Given the description of an element on the screen output the (x, y) to click on. 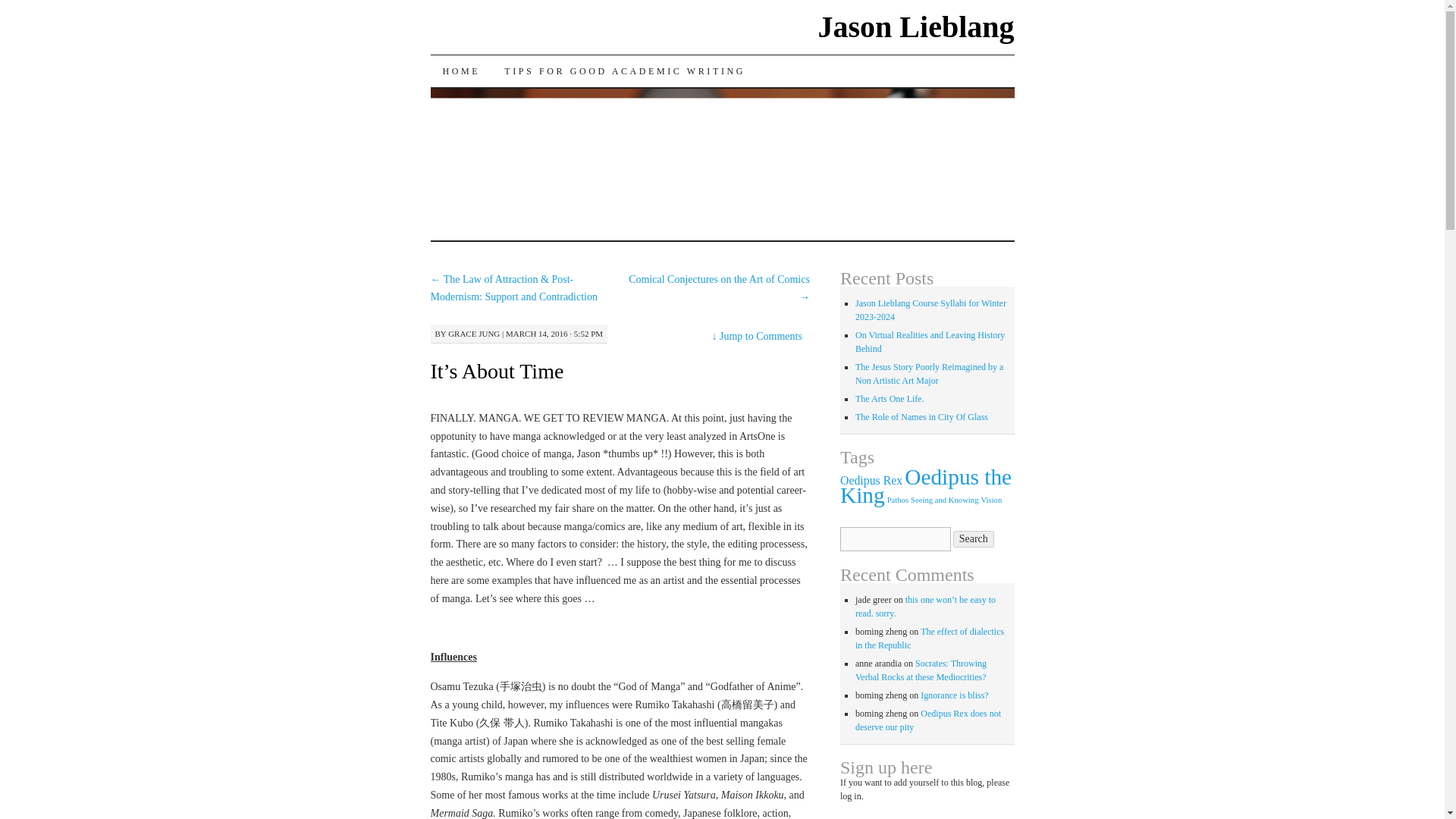
Jason Lieblang (916, 26)
Jason Lieblang Course Syllabi for Winter 2023-2024 (931, 310)
Oedipus Rex does not deserve our pity (928, 720)
Ignorance is bliss? (954, 695)
Pathos (897, 500)
Oedipus Rex (871, 480)
Search (973, 538)
Search (973, 538)
The Role of Names in City Of Glass (922, 416)
